Given the description of an element on the screen output the (x, y) to click on. 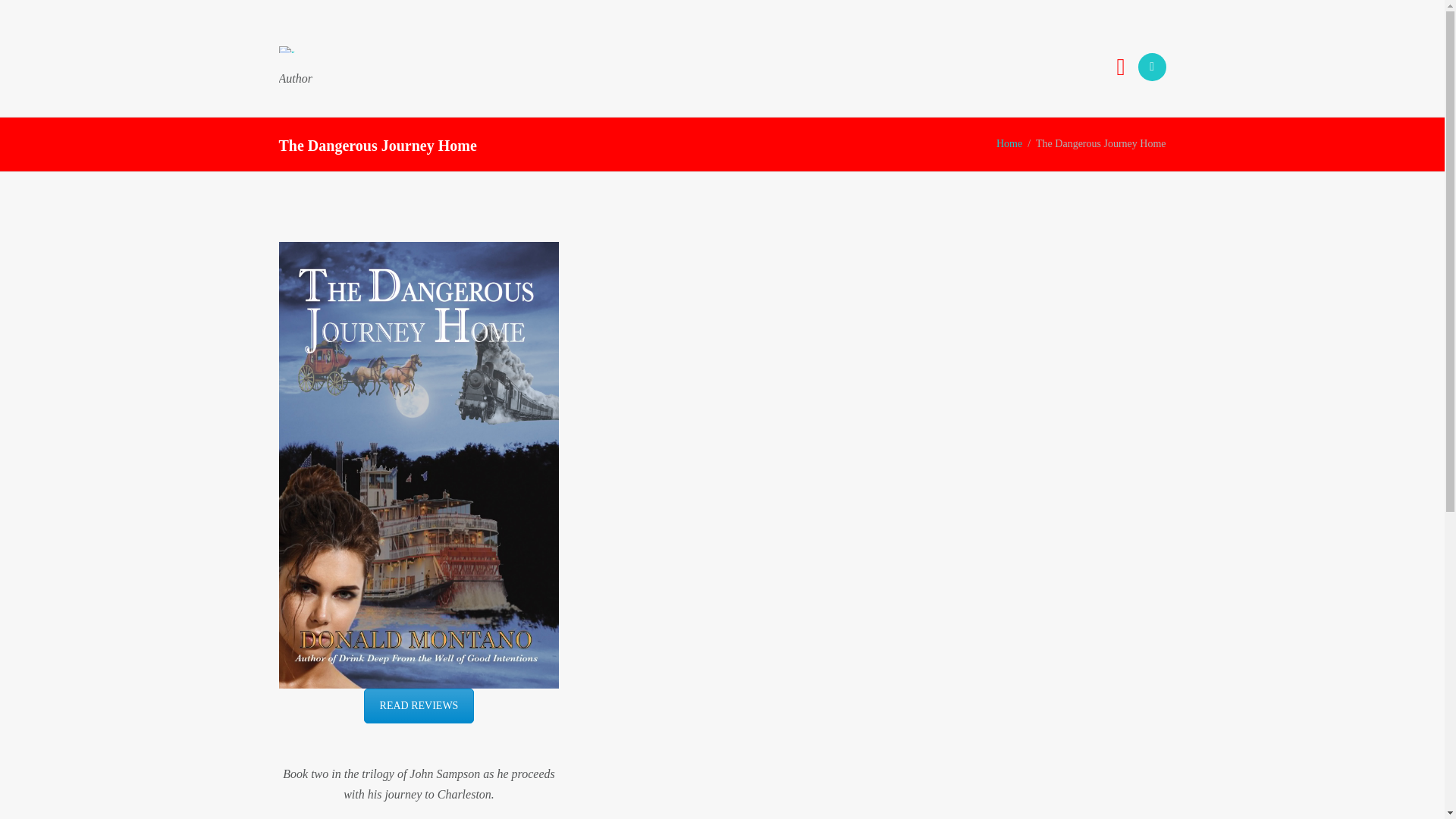
Book Reviews for The Dangerous Journey Home (419, 705)
Author (302, 67)
READ REVIEWS (419, 705)
Home (1008, 143)
